Given the description of an element on the screen output the (x, y) to click on. 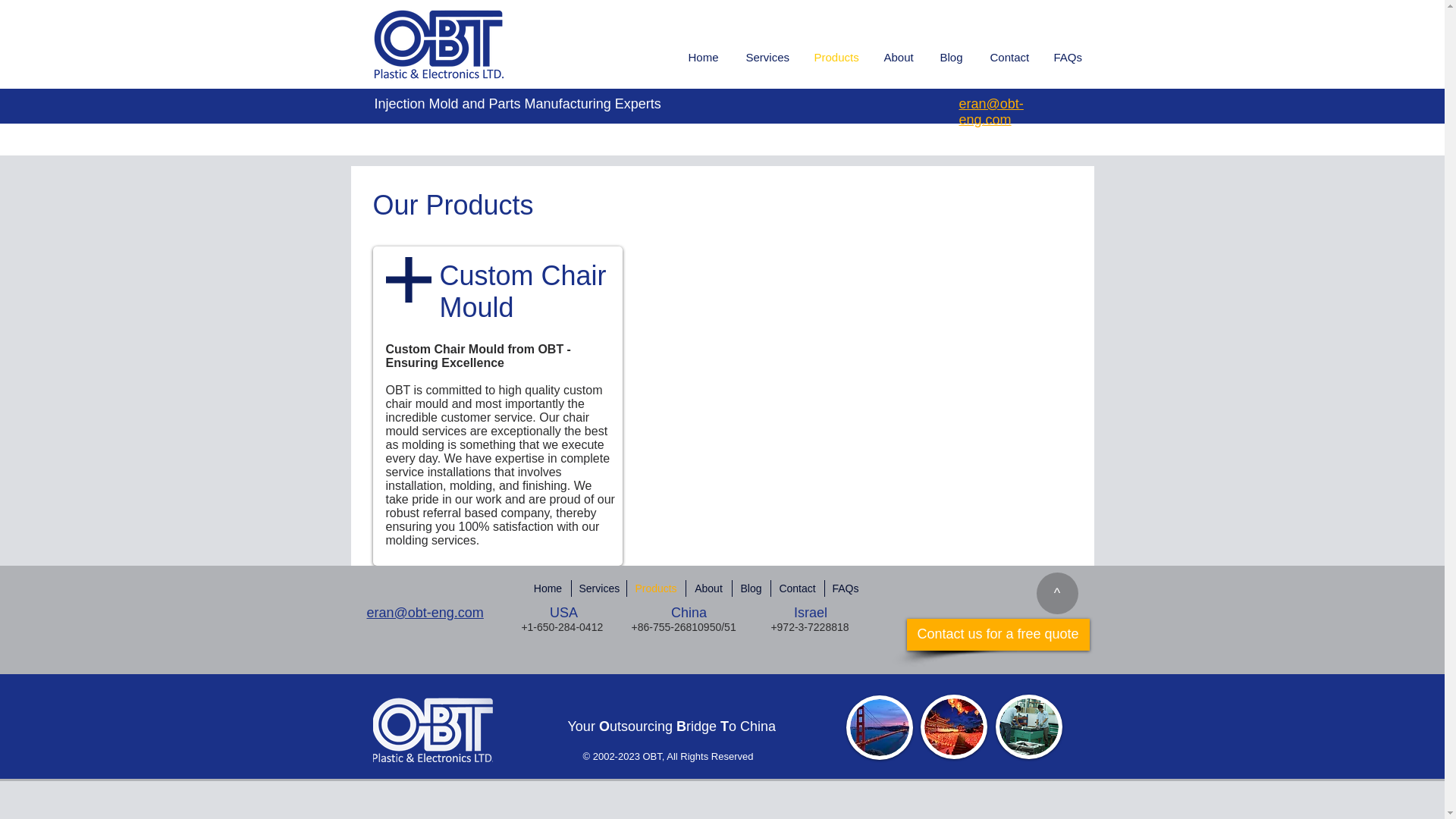
Contact (1008, 57)
Products (655, 588)
China1.png (953, 726)
FAQs (845, 588)
Services (599, 588)
About (898, 57)
Blog (951, 57)
About (707, 588)
Contact us for a free quote (998, 634)
Blog (751, 588)
